Given the description of an element on the screen output the (x, y) to click on. 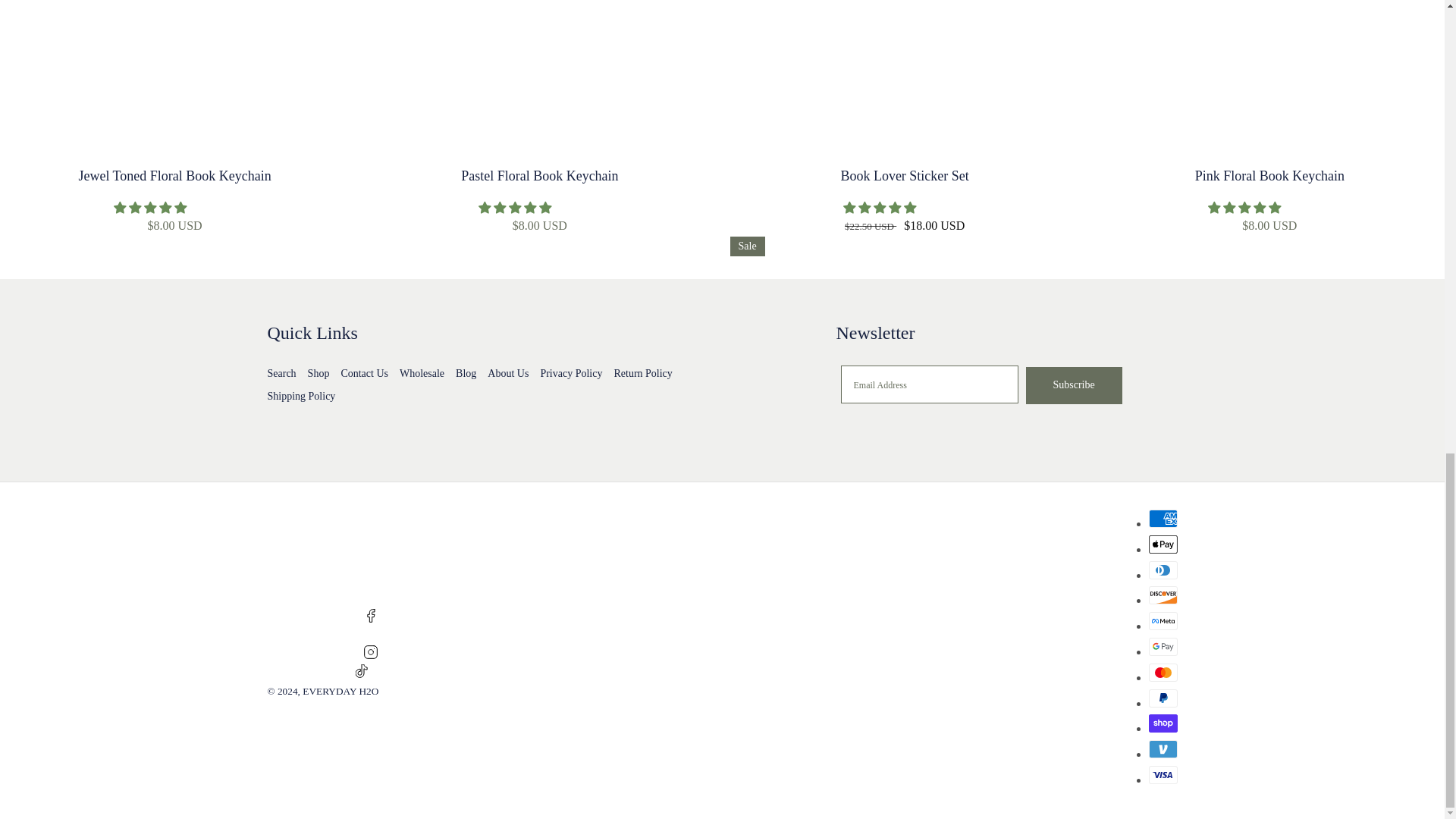
Google Pay (1162, 647)
Apple Pay (1162, 544)
Discover (1162, 595)
American Express (1162, 518)
Diners Club (1162, 570)
Meta Pay (1162, 620)
